Given the description of an element on the screen output the (x, y) to click on. 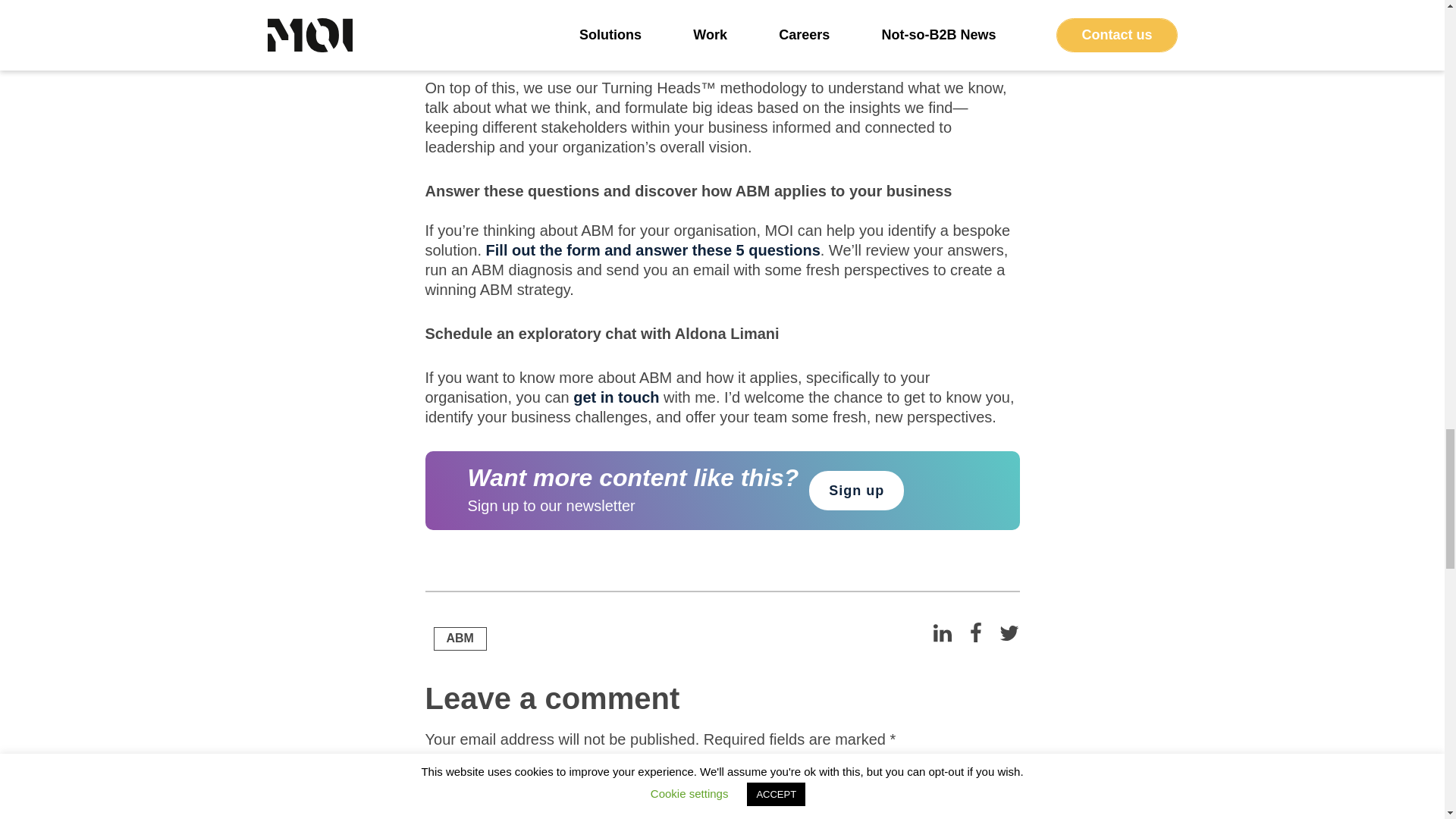
form and answer these 5 questions (691, 249)
Sign up (856, 490)
Fill out the (524, 249)
get in touch (616, 397)
